Given the description of an element on the screen output the (x, y) to click on. 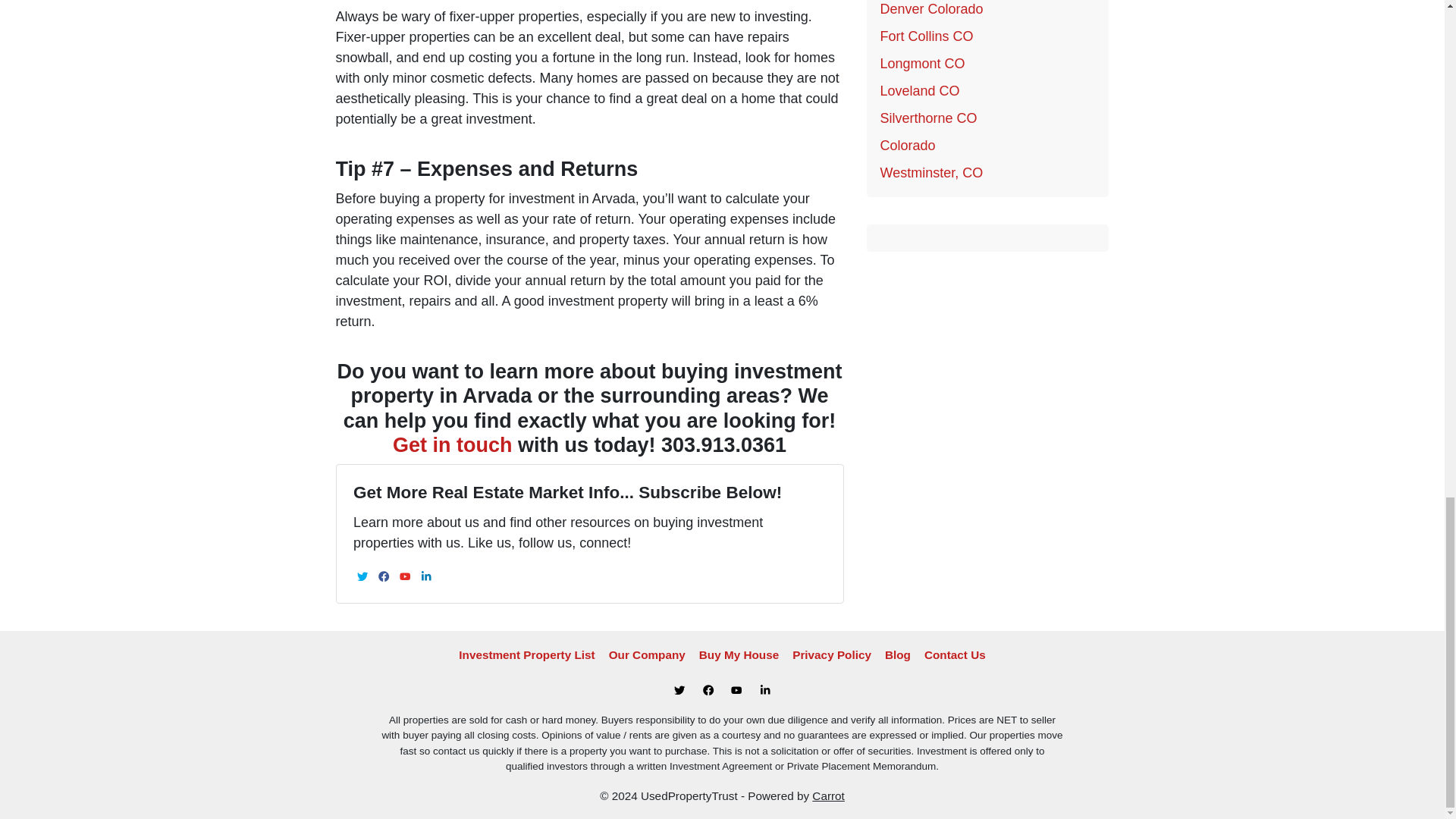
Twitter (362, 576)
Denver Colorado (930, 8)
Fort Collins CO (925, 36)
Silverthorne CO (927, 118)
YouTube (404, 576)
Colorado (906, 145)
Get in touch (452, 445)
Westminster, CO (930, 172)
Our Company (647, 655)
LinkedIn (425, 576)
Facebook (383, 576)
Buy My House (739, 655)
Loveland CO (919, 90)
Longmont CO (921, 63)
Investment Property List (526, 655)
